Given the description of an element on the screen output the (x, y) to click on. 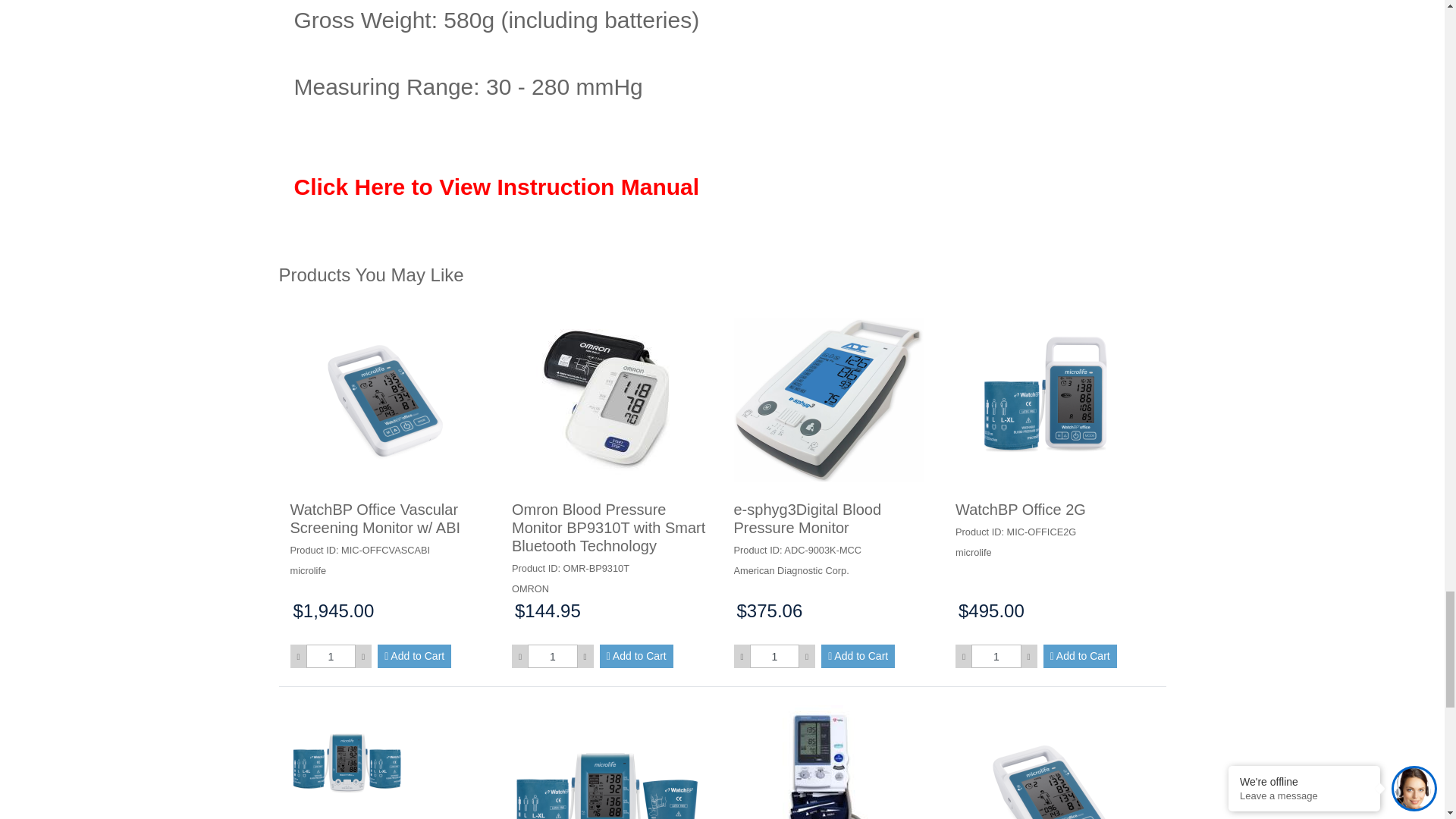
WatchBP Office 2G (1049, 399)
1 (774, 656)
1 (995, 656)
WatchBP Office ABI (606, 762)
1 (551, 656)
WatchBP Office Vascular Screening Monitor (1049, 762)
Wall Mount Kit for HEM-907XL (828, 762)
e-sphyg3Digital Blood Pressure Monitor (828, 399)
WatchBP Office TWIN AFIB Blood Pressure Monitor (346, 762)
1 (330, 656)
